Given the description of an element on the screen output the (x, y) to click on. 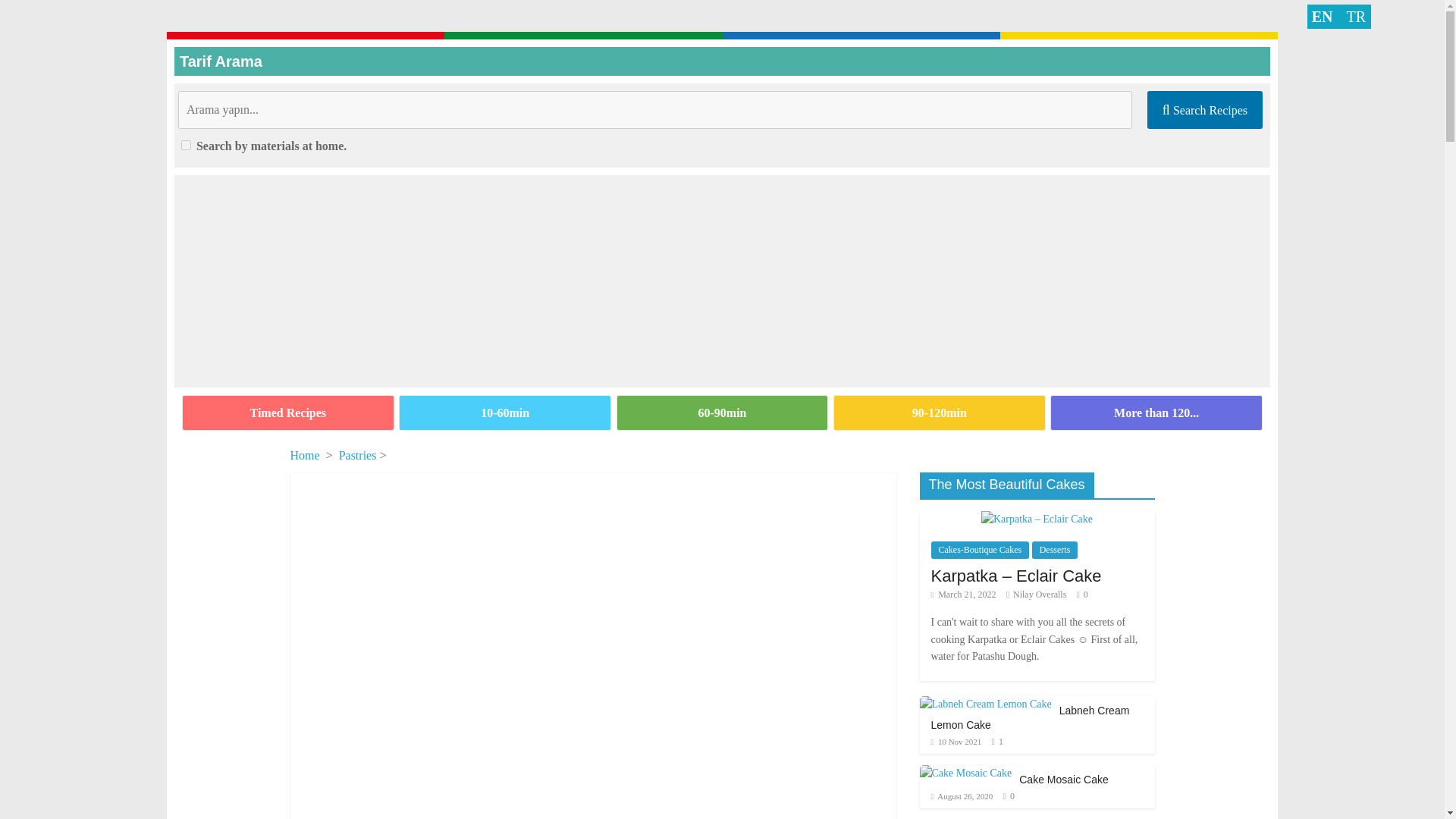
Home (303, 454)
Pastries (358, 454)
Search Recipes (1204, 109)
Home (303, 454)
90-120min (939, 412)
Timed Recipes (288, 412)
on (185, 144)
Pastries (358, 454)
More than 120... (1155, 412)
60-90min (721, 412)
